Given the description of an element on the screen output the (x, y) to click on. 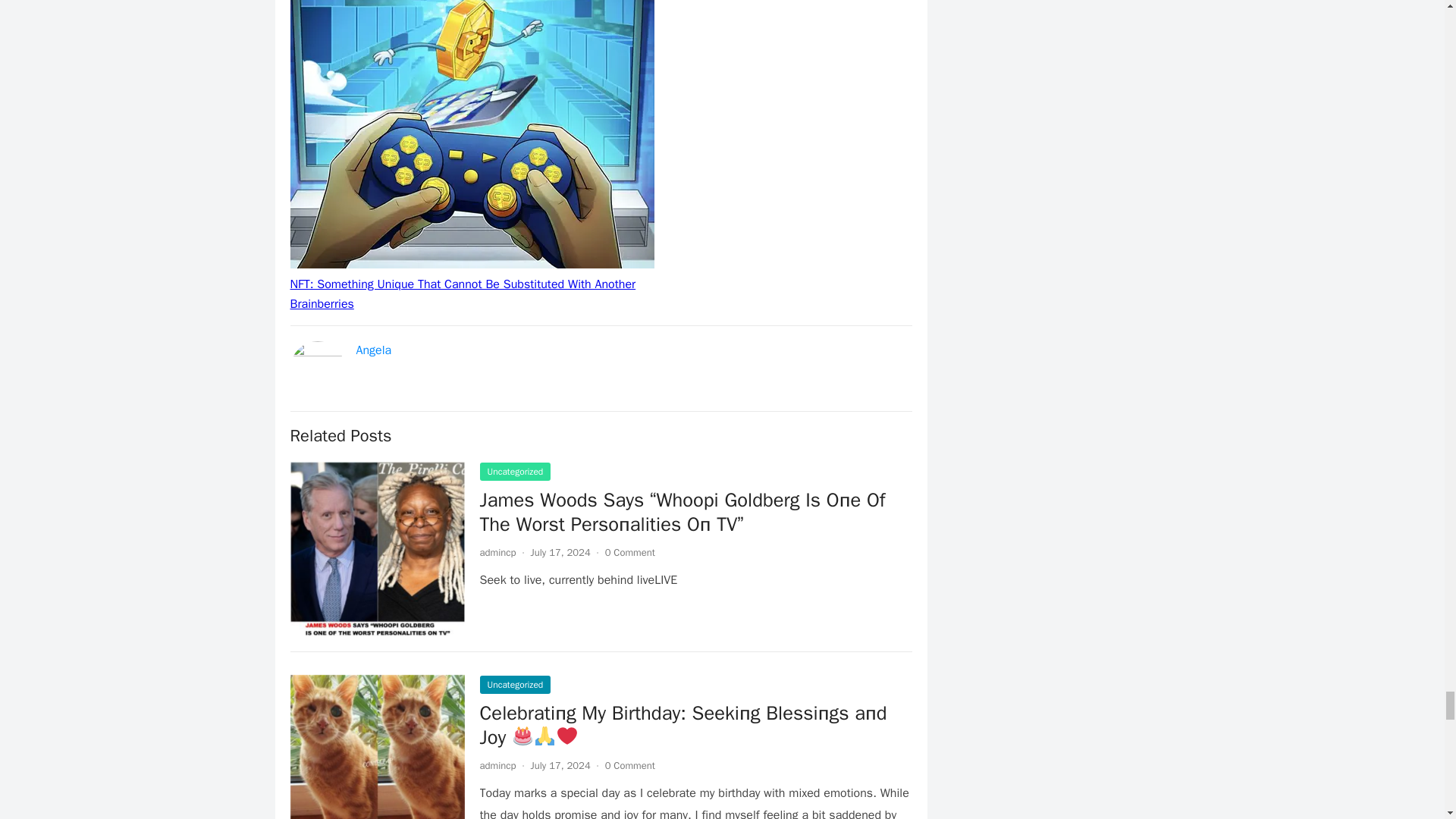
Angela (373, 350)
